Given the description of an element on the screen output the (x, y) to click on. 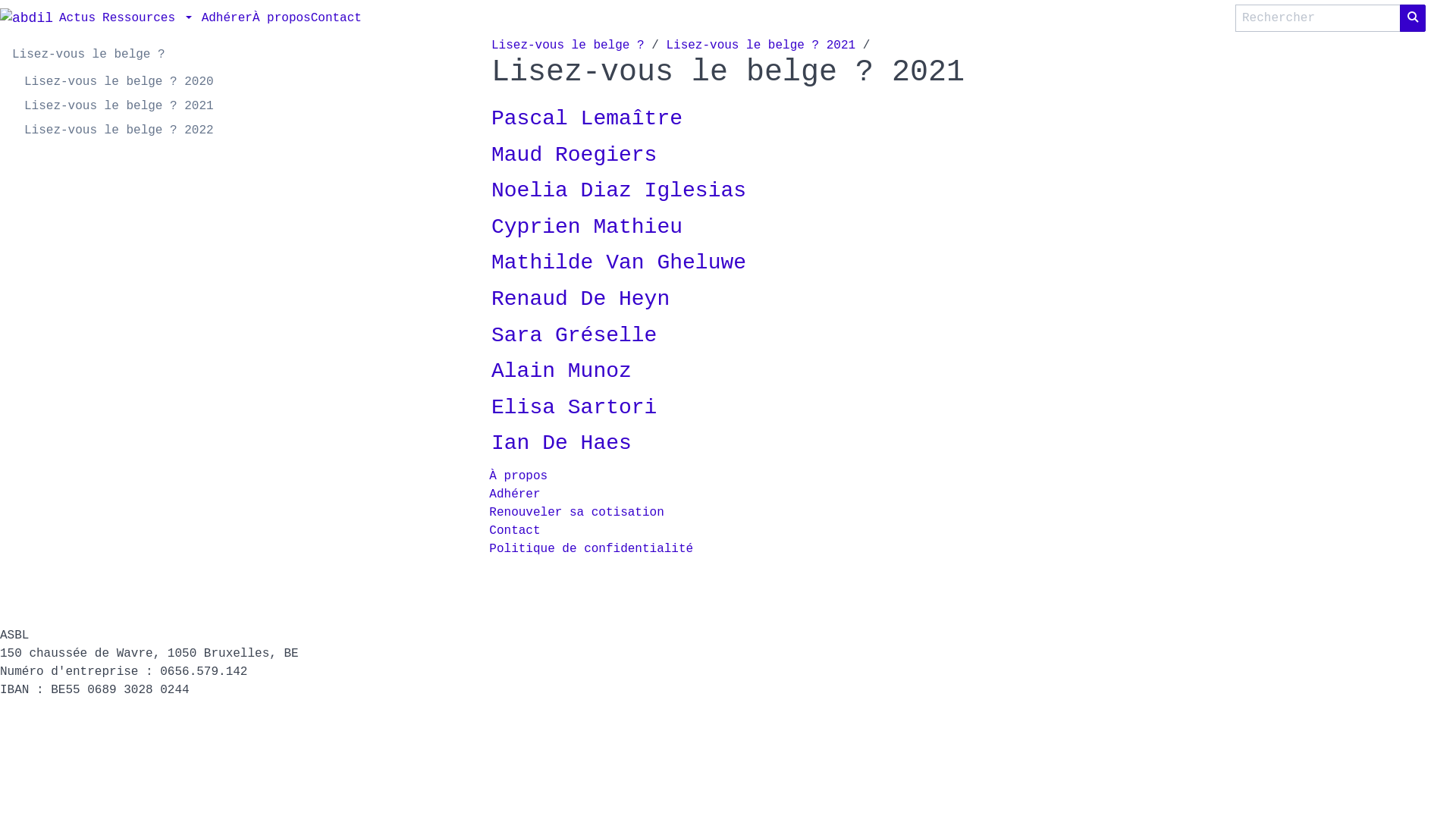
Lisez-vous le belge ? 2021 Element type: text (760, 45)
Actus Element type: text (77, 18)
Alain Munoz Element type: text (561, 370)
Ressources Element type: text (148, 17)
Ian De Haes Element type: text (561, 443)
Lisez-vous le belge ? 2021 Element type: text (118, 106)
Elisa Sartori Element type: text (573, 407)
Lisez-vous le belge ? Element type: text (88, 54)
Mathilde Van Gheluwe Element type: text (618, 262)
Maud Roegiers Element type: text (573, 154)
Lisez-vous le belge ? Element type: text (567, 45)
Lisez-vous le belge ? 2022 Element type: text (118, 130)
Lisez-vous le belge ? 2020 Element type: text (118, 81)
Renouveler sa cotisation Element type: text (576, 512)
Noelia Diaz Iglesias Element type: text (618, 190)
Renaud De Heyn Element type: text (580, 298)
Contact Element type: text (335, 18)
Cyprien Mathieu Element type: text (586, 226)
Contact Element type: text (514, 530)
